Given the description of an element on the screen output the (x, y) to click on. 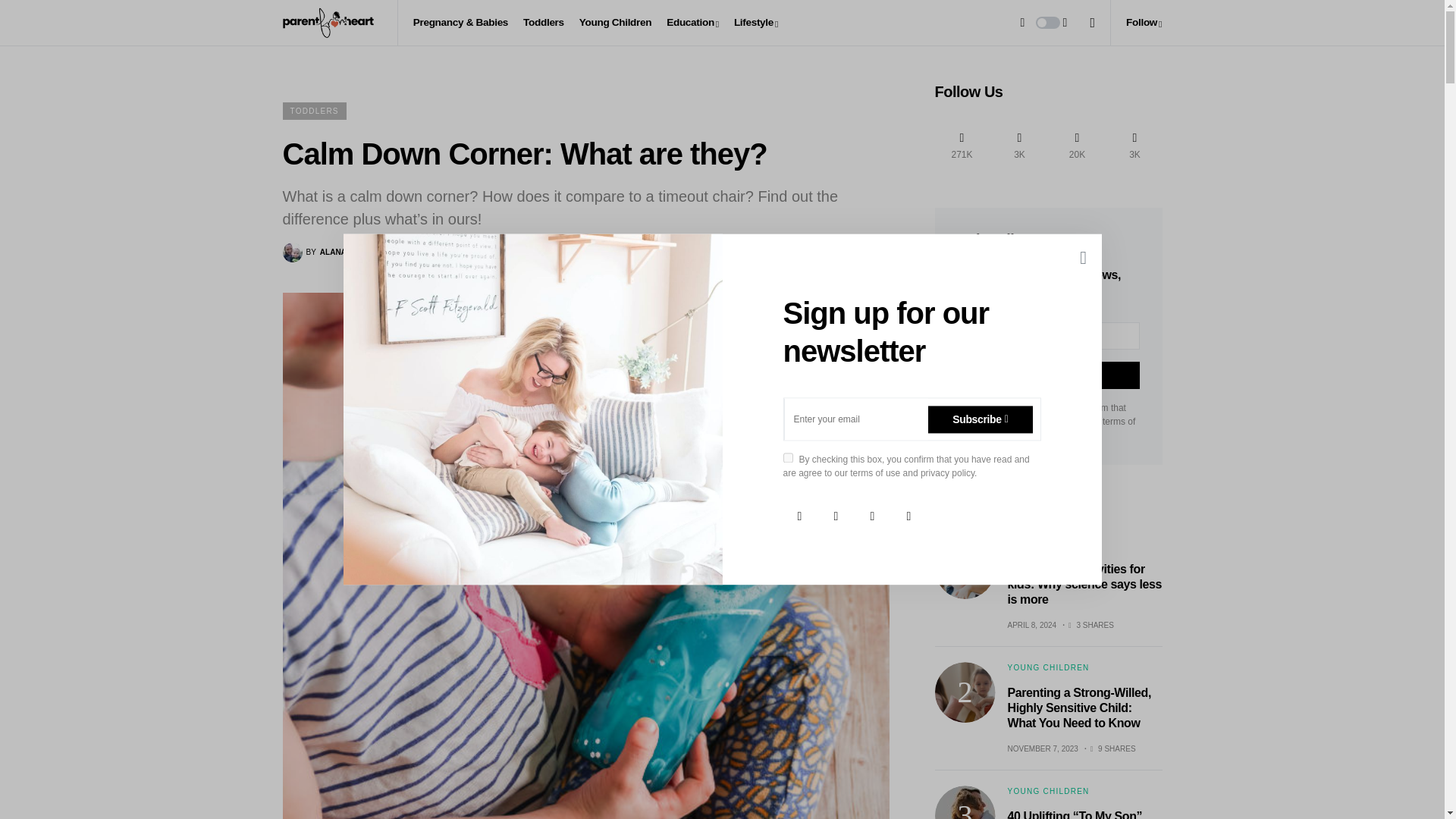
Toddlers (543, 22)
on (961, 406)
on (787, 457)
Education (692, 22)
Young Children (614, 22)
View all posts by Alana Pace (325, 252)
